Given the description of an element on the screen output the (x, y) to click on. 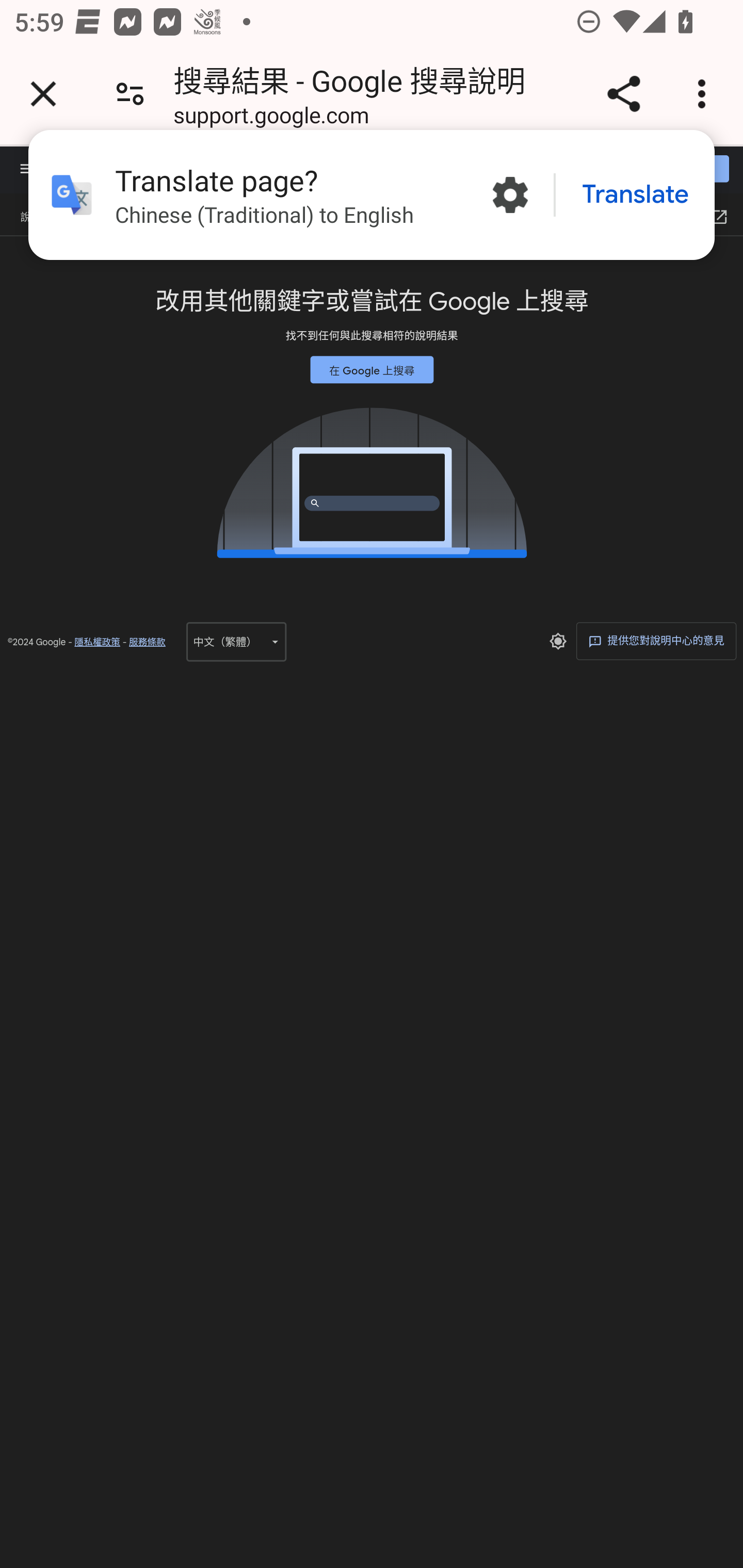
Close tab (43, 93)
Share (623, 93)
Customize and control Google Chrome (705, 93)
Connection is secure (129, 93)
support.google.com (271, 117)
Translate (634, 195)
More options in the Translate page? (509, 195)
在 Google 上搜尋 (371, 368)
選取語言 (中文（繁體）‎) (235, 640)
 提供您對說明中心的意見 (656, 640)
停用深色模式 (557, 641)
隱私權政策 (97, 641)
服務條款 (146, 641)
